Given the description of an element on the screen output the (x, y) to click on. 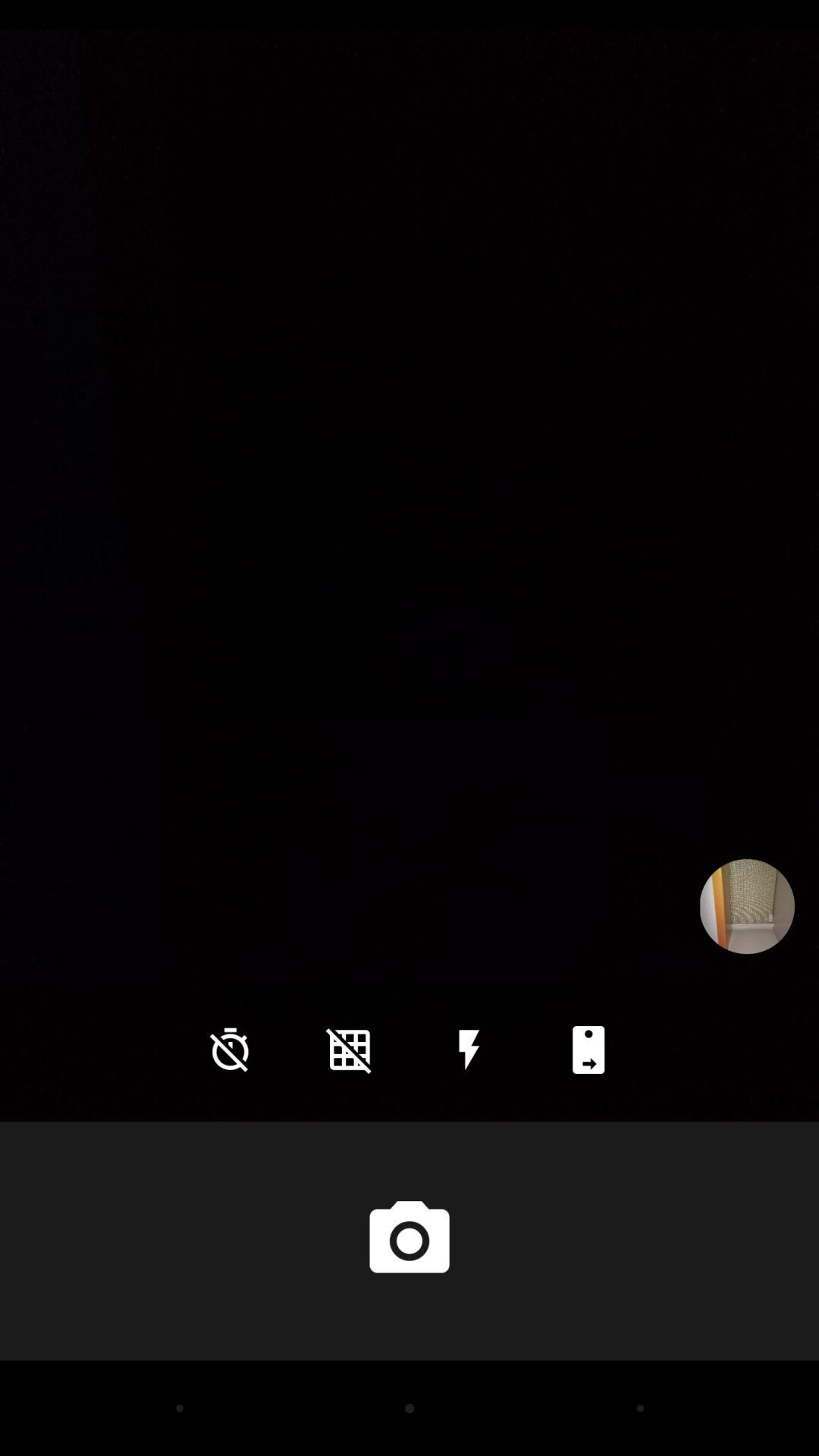
press the item at the bottom right corner (588, 1049)
